Given the description of an element on the screen output the (x, y) to click on. 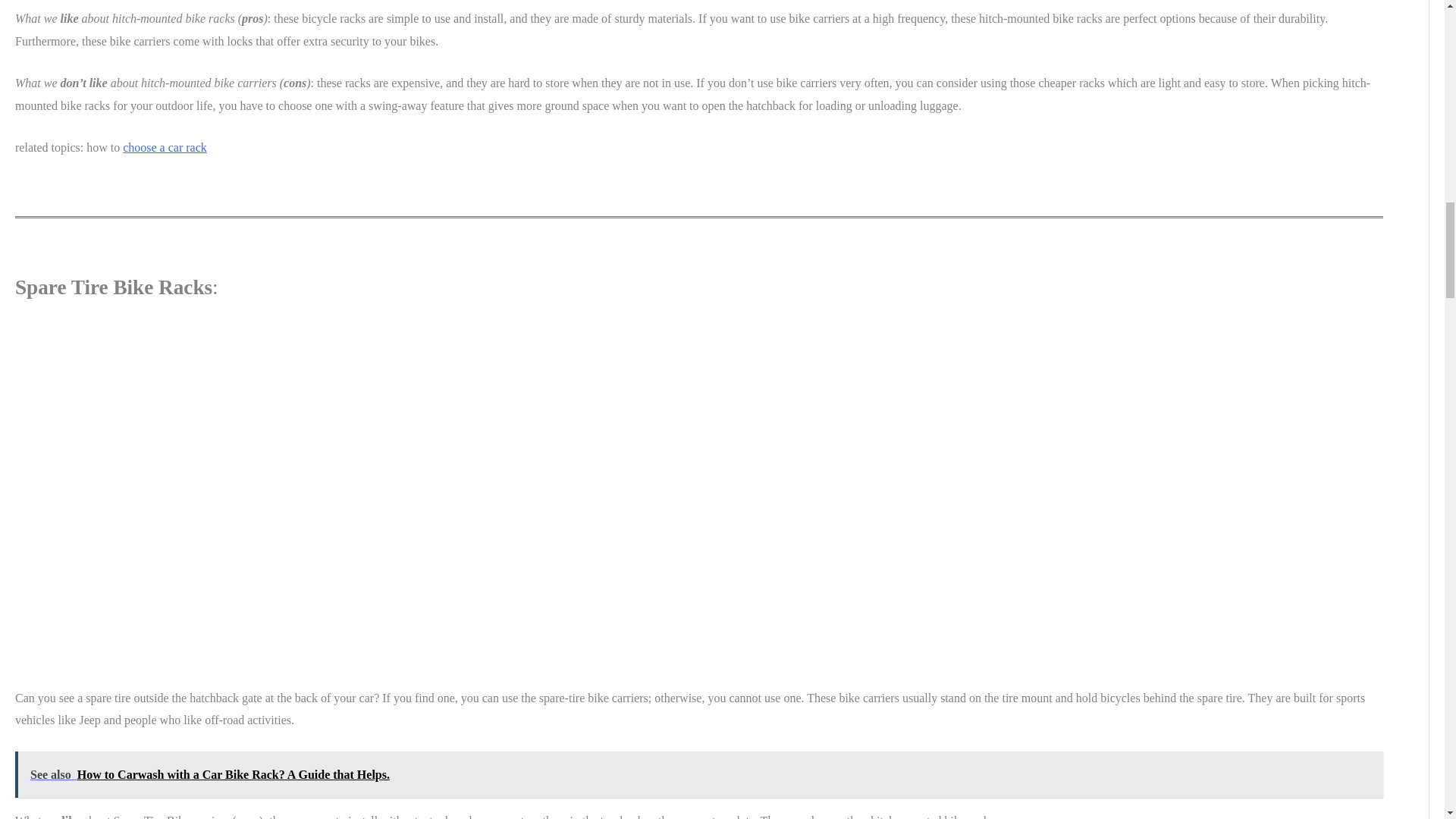
choose a car rack (164, 146)
